Given the description of an element on the screen output the (x, y) to click on. 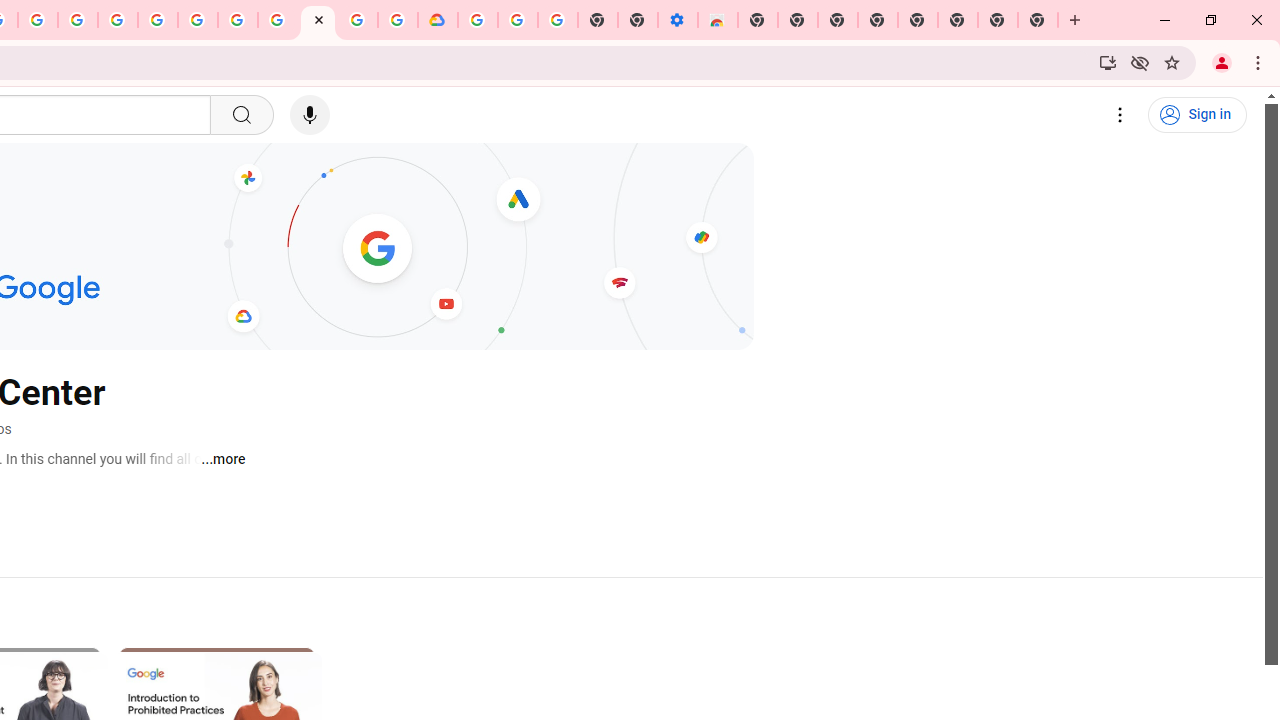
Search with your voice (309, 115)
New Tab (1037, 20)
Install YouTube (1107, 62)
Browse the Google Chrome Community - Google Chrome Community (397, 20)
Settings - Accessibility (677, 20)
Settings (1119, 115)
Ad Settings (118, 20)
New Tab (758, 20)
You (1221, 62)
Sign in (1197, 115)
